Given the description of an element on the screen output the (x, y) to click on. 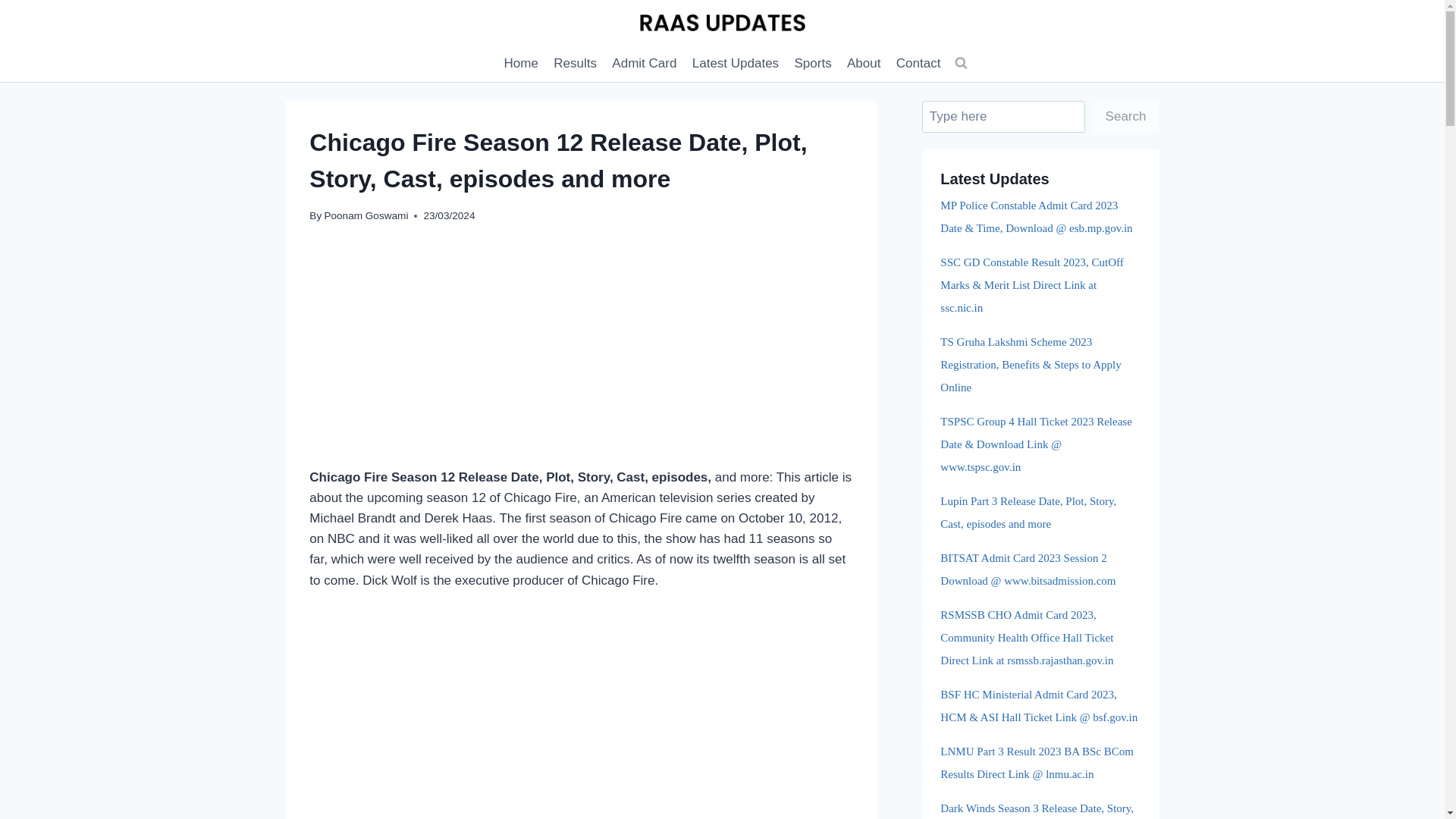
Results (575, 63)
Admit Card (644, 63)
Sports (813, 63)
Advertisement (580, 354)
Contact (918, 63)
Search (1125, 116)
Home (521, 63)
Advertisement (580, 717)
Latest Updates (735, 63)
About (864, 63)
